Given the description of an element on the screen output the (x, y) to click on. 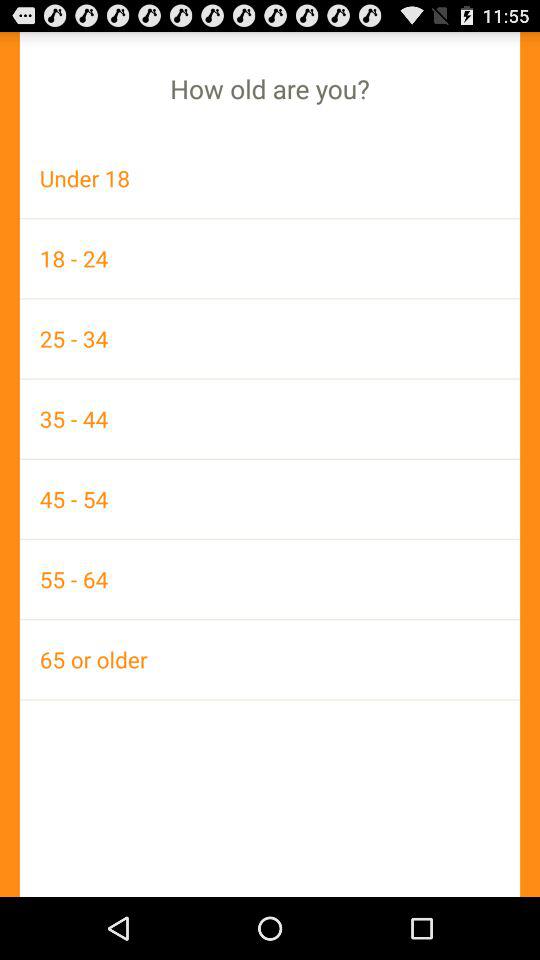
choose icon below 25 - 34 app (269, 418)
